Given the description of an element on the screen output the (x, y) to click on. 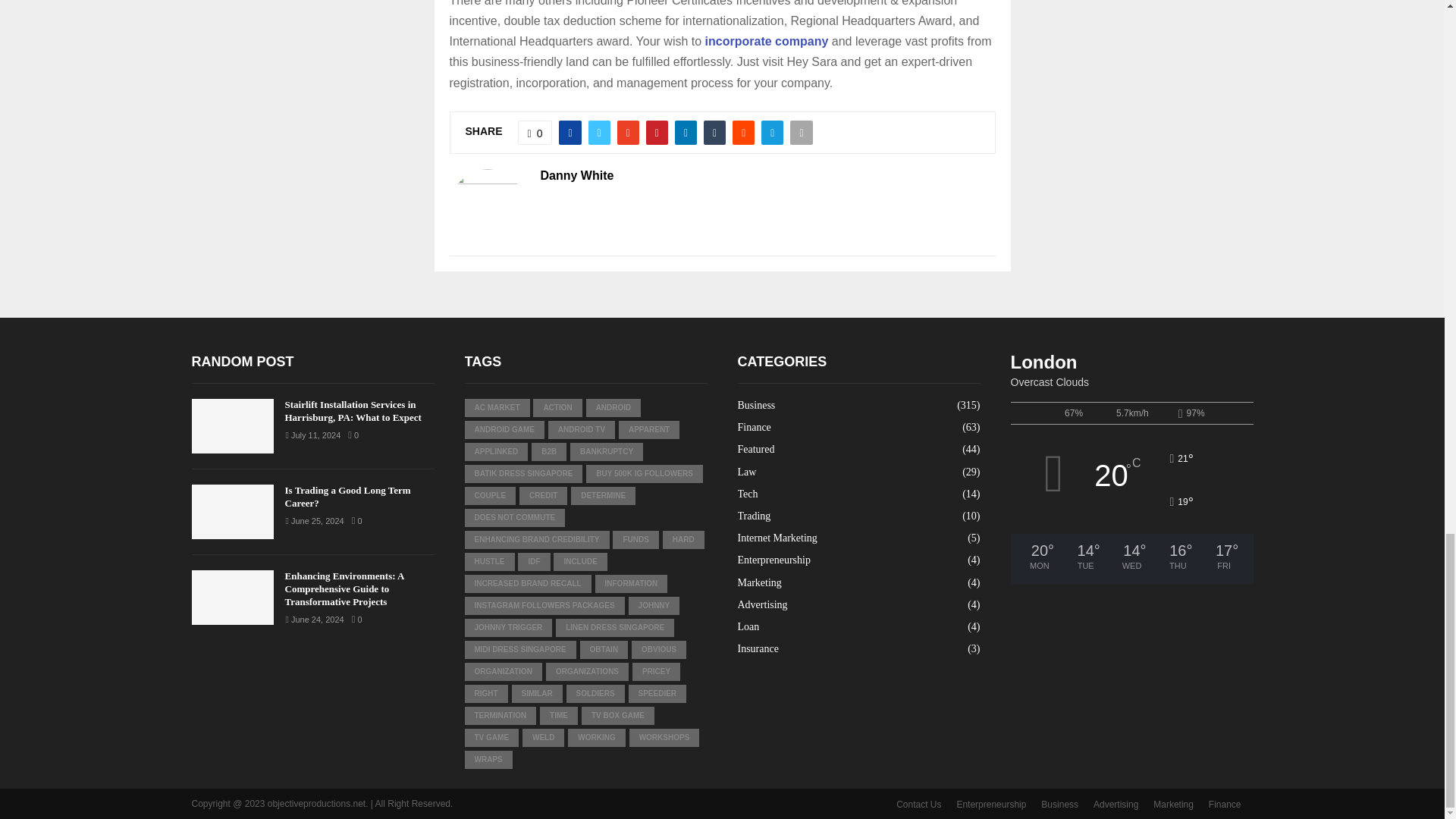
Like (535, 132)
incorporate company (766, 41)
0 (535, 132)
Posts by Danny White (576, 176)
Danny White (576, 176)
